Given the description of an element on the screen output the (x, y) to click on. 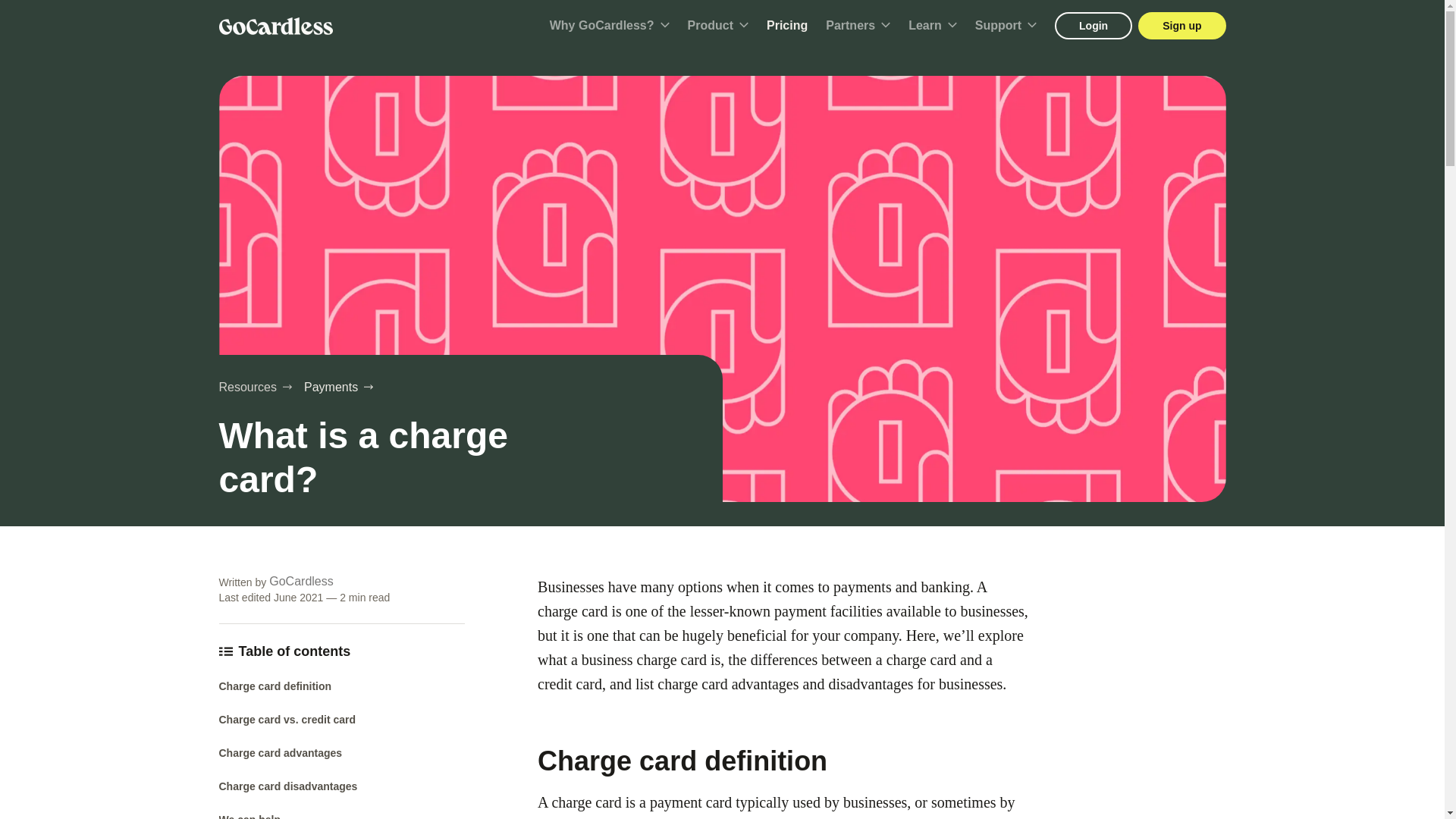
Why GoCardless? (609, 25)
Product (717, 25)
